Given the description of an element on the screen output the (x, y) to click on. 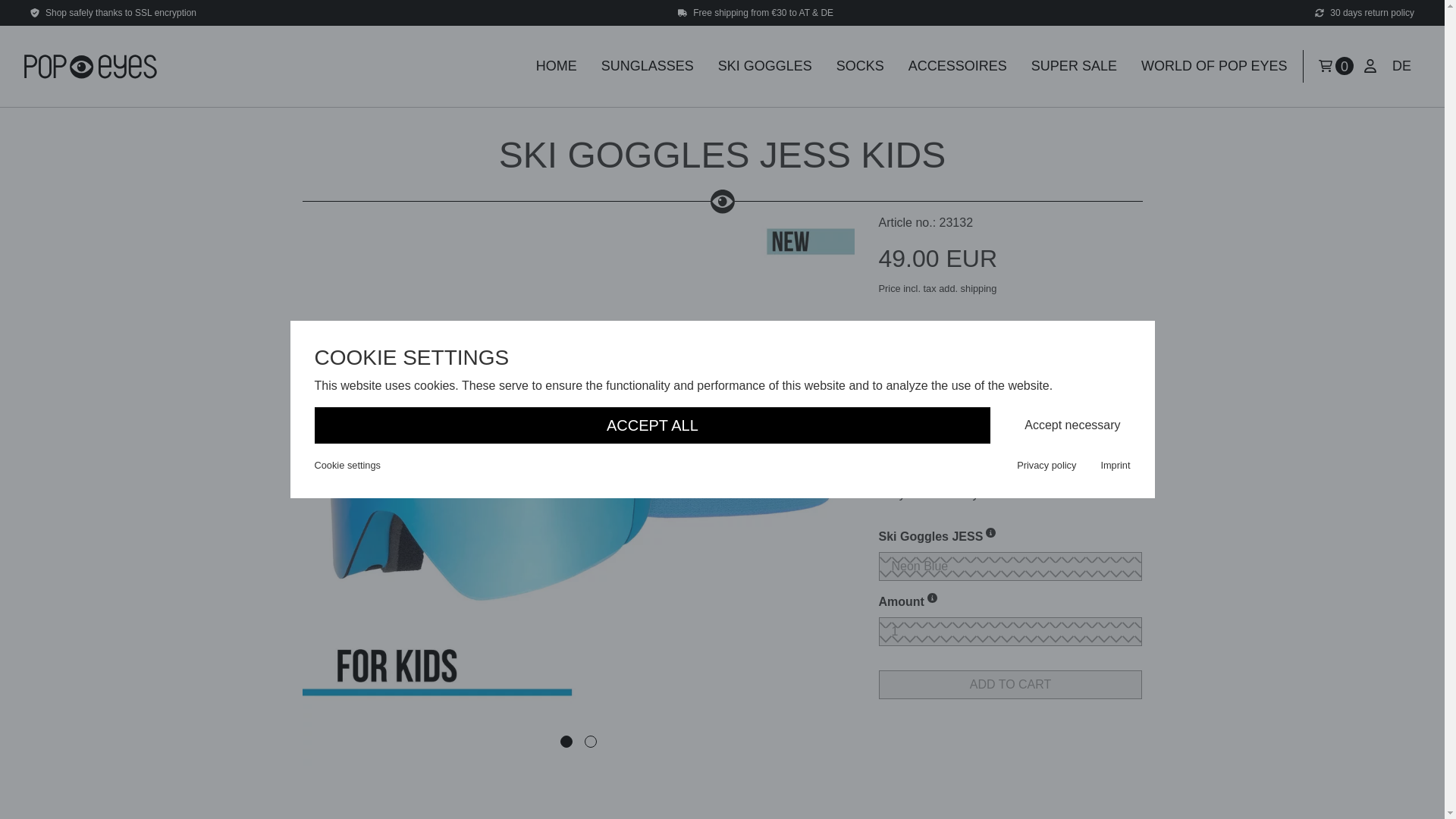
SOCKS (860, 65)
SUNGLASSES (647, 65)
HOME (556, 65)
SUPER SALE (1074, 65)
ACCESSOIRES (957, 65)
WORLD OF POP EYES (1214, 65)
